Given the description of an element on the screen output the (x, y) to click on. 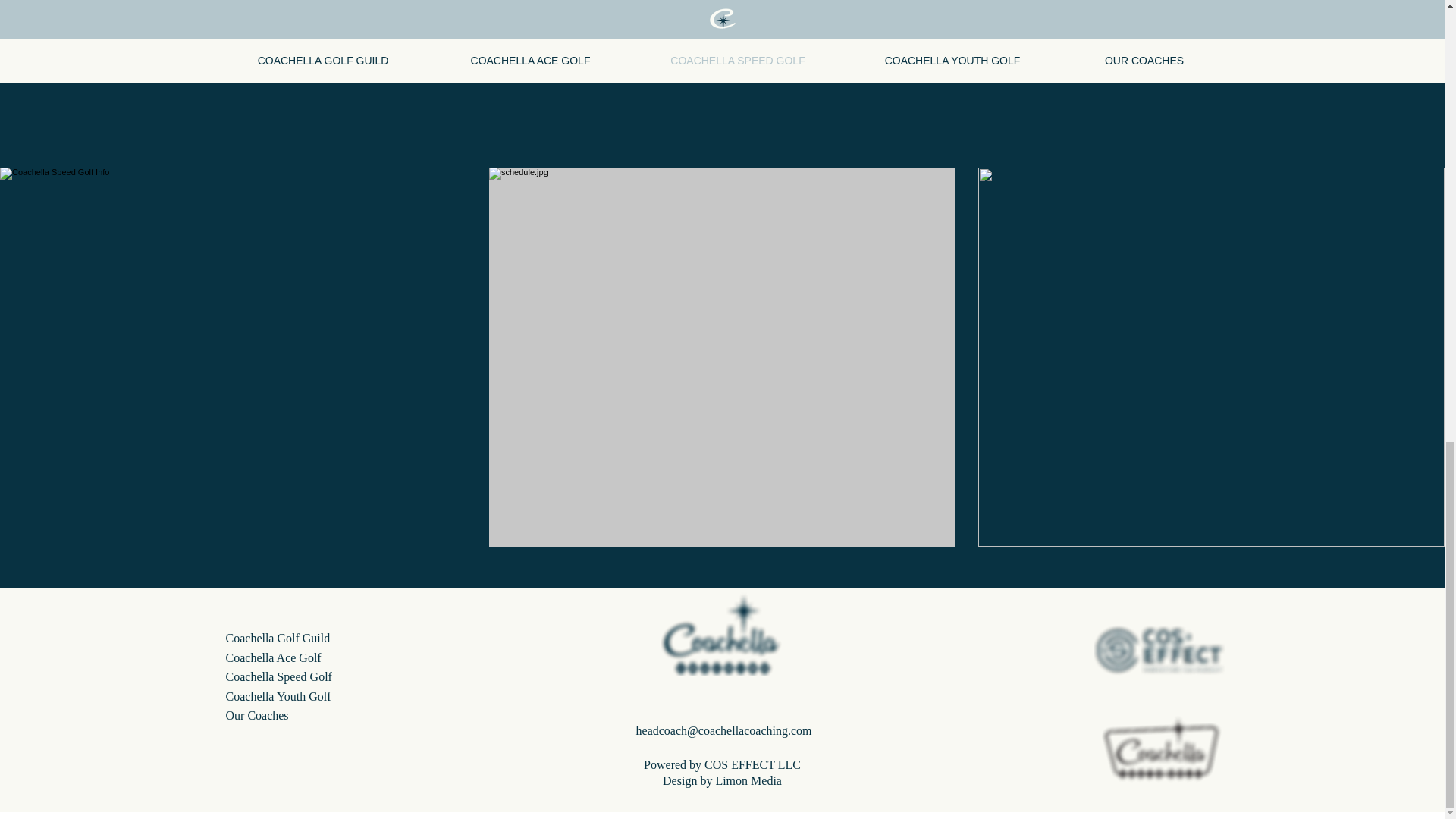
Coachella Golf Guild (277, 637)
Limon Media (747, 780)
Coachella Ace Golf (273, 657)
Coachella Speed Golf (278, 676)
Our Coaches (256, 715)
Coachella Youth Golf (278, 696)
